Given the description of an element on the screen output the (x, y) to click on. 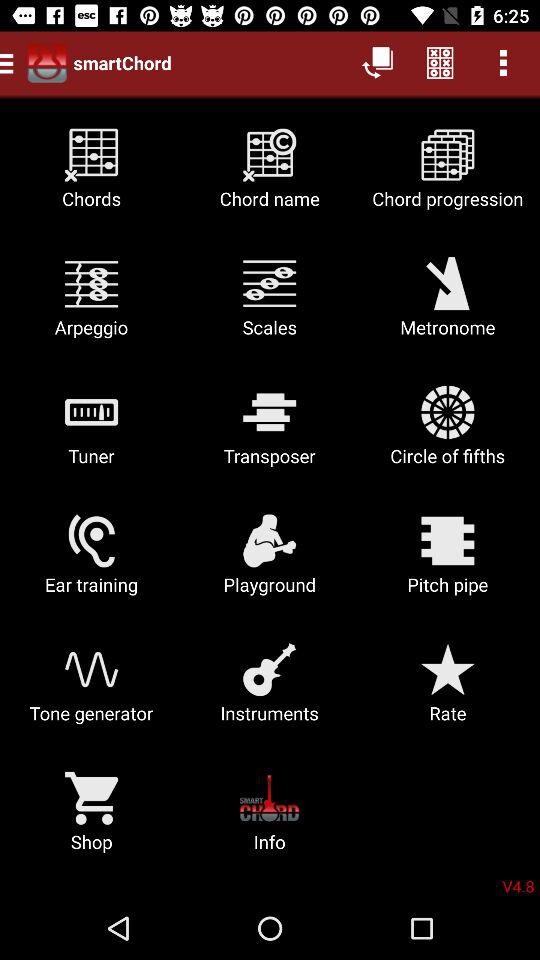
turn on icon below scales (447, 432)
